Given the description of an element on the screen output the (x, y) to click on. 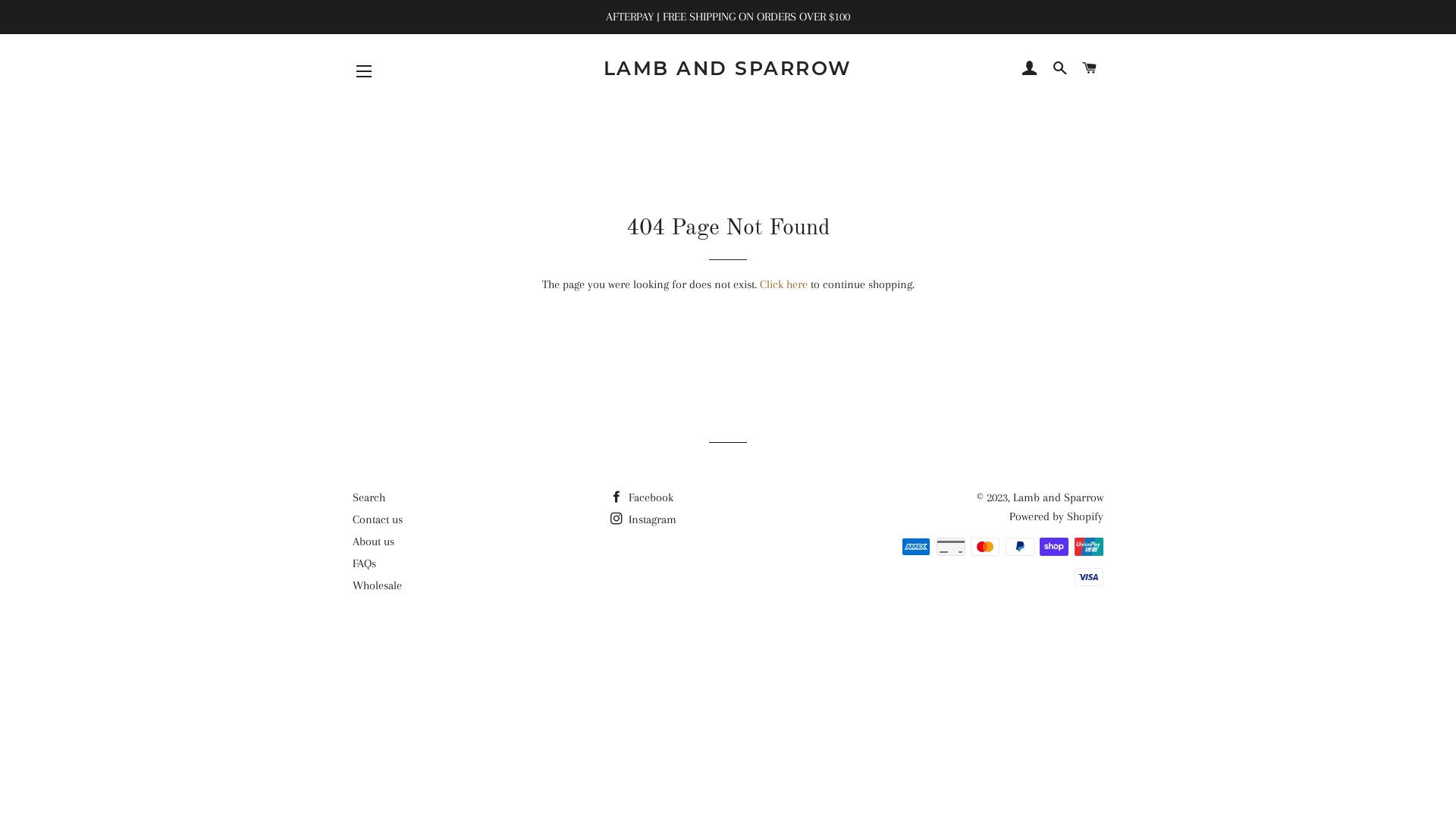
SEARCH Element type: text (1059, 68)
LAMB AND SPARROW Element type: text (727, 68)
Instagram Element type: text (643, 519)
LOG IN Element type: text (1029, 68)
FAQs Element type: text (364, 563)
Facebook Element type: text (641, 497)
Search Element type: text (368, 497)
Wholesale Element type: text (376, 585)
SITE NAVIGATION Element type: text (363, 71)
Contact us Element type: text (377, 519)
Lamb and Sparrow Element type: text (1058, 497)
About us Element type: text (373, 541)
CART Element type: text (1089, 68)
Click here Element type: text (783, 284)
Powered by Shopify Element type: text (1056, 516)
